Given the description of an element on the screen output the (x, y) to click on. 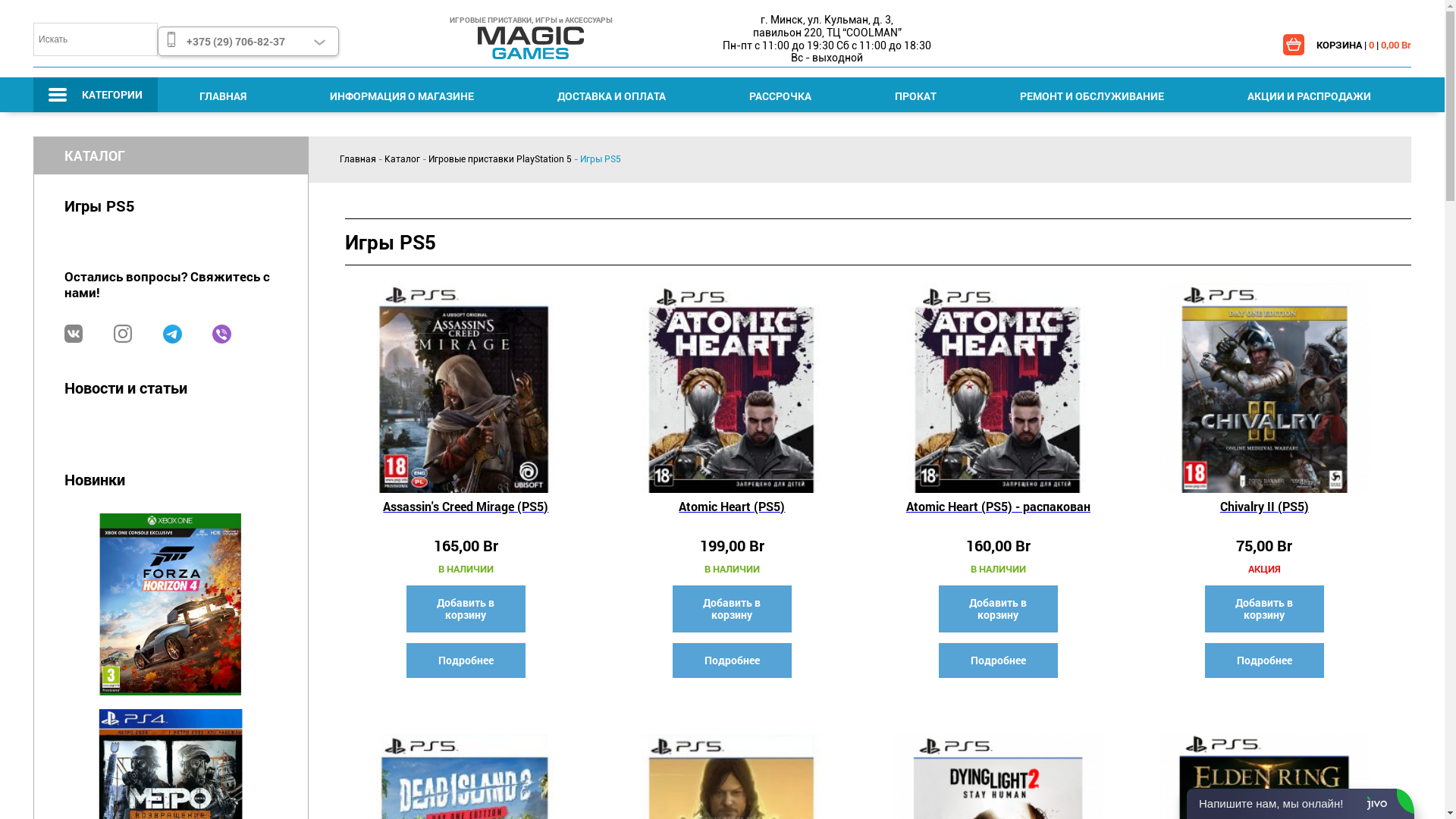
Assassin's Creed Mirage (PS5) Element type: text (465, 513)
Atomic Heart (PS5) Element type: text (731, 513)
+375 (29) 706-82-37 Element type: text (248, 40)
Chivalry II (PS5) Element type: text (1264, 513)
